Given the description of an element on the screen output the (x, y) to click on. 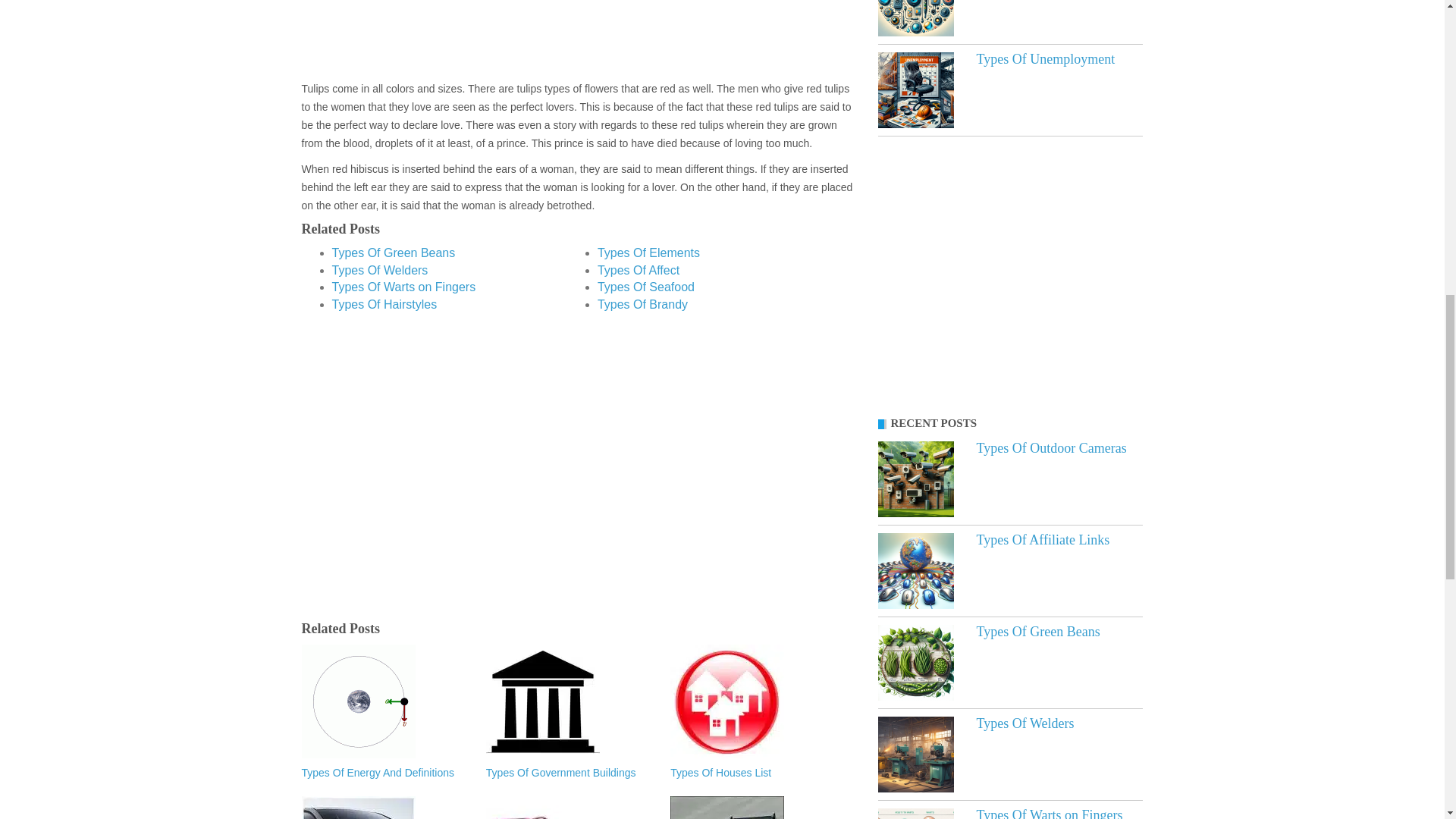
Types Of Affiliate Links (1042, 539)
Types Of Green Beans (915, 662)
Types Of Outdoor Cameras (915, 478)
Types Of Energy And Definitions (385, 773)
Types Of Government Buildings (570, 773)
Types Of Houses List (754, 773)
Types Of Affect (637, 269)
Types Of Outdoor Cameras (1051, 447)
Types Of Green Beans (393, 252)
Types Of Warts on Fingers (403, 286)
